Given the description of an element on the screen output the (x, y) to click on. 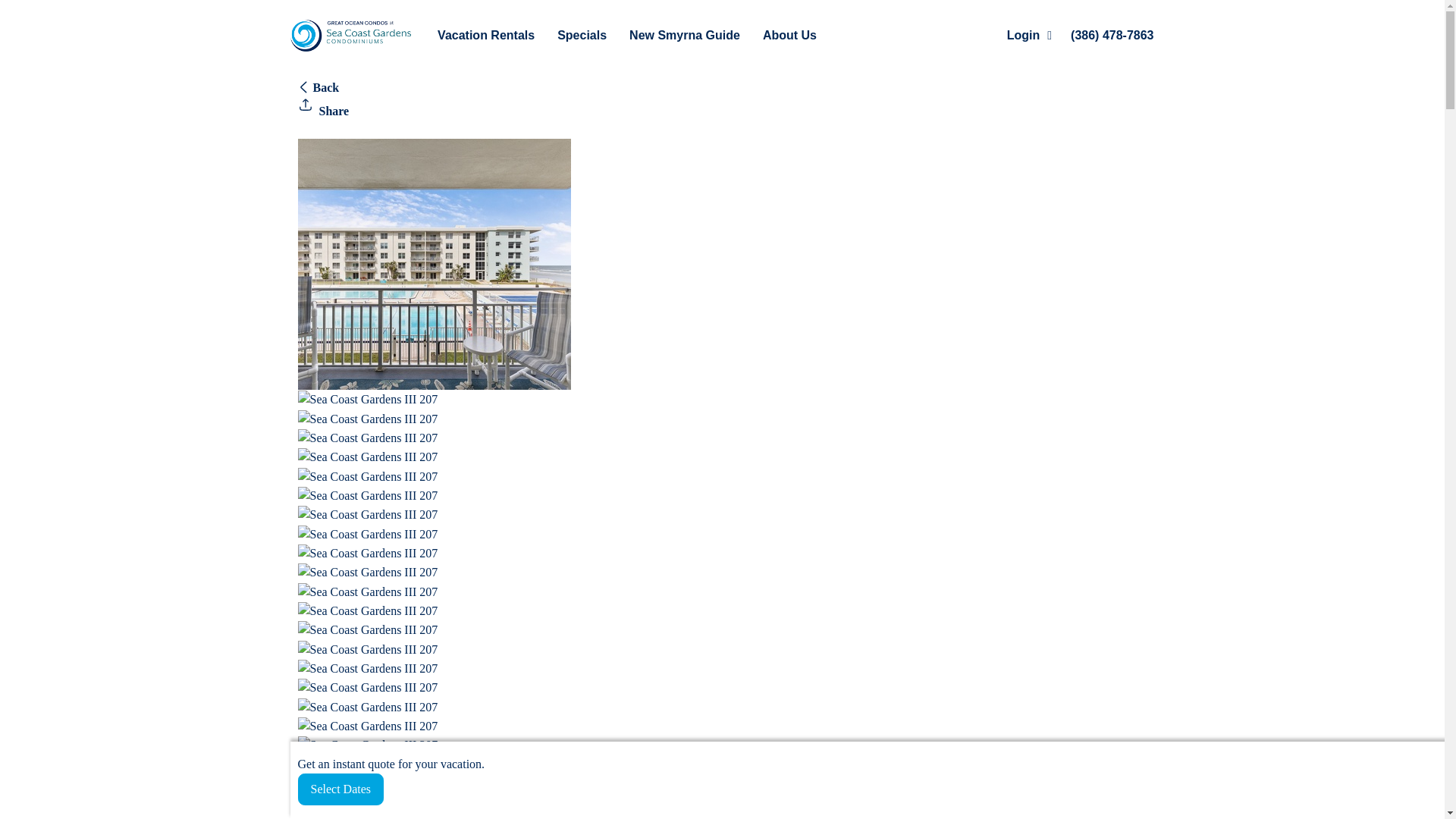
Specials (582, 35)
Login (998, 35)
About Us (789, 35)
Vacation Rentals (485, 35)
Select Dates (340, 789)
New Smyrna Guide (684, 35)
